Given the description of an element on the screen output the (x, y) to click on. 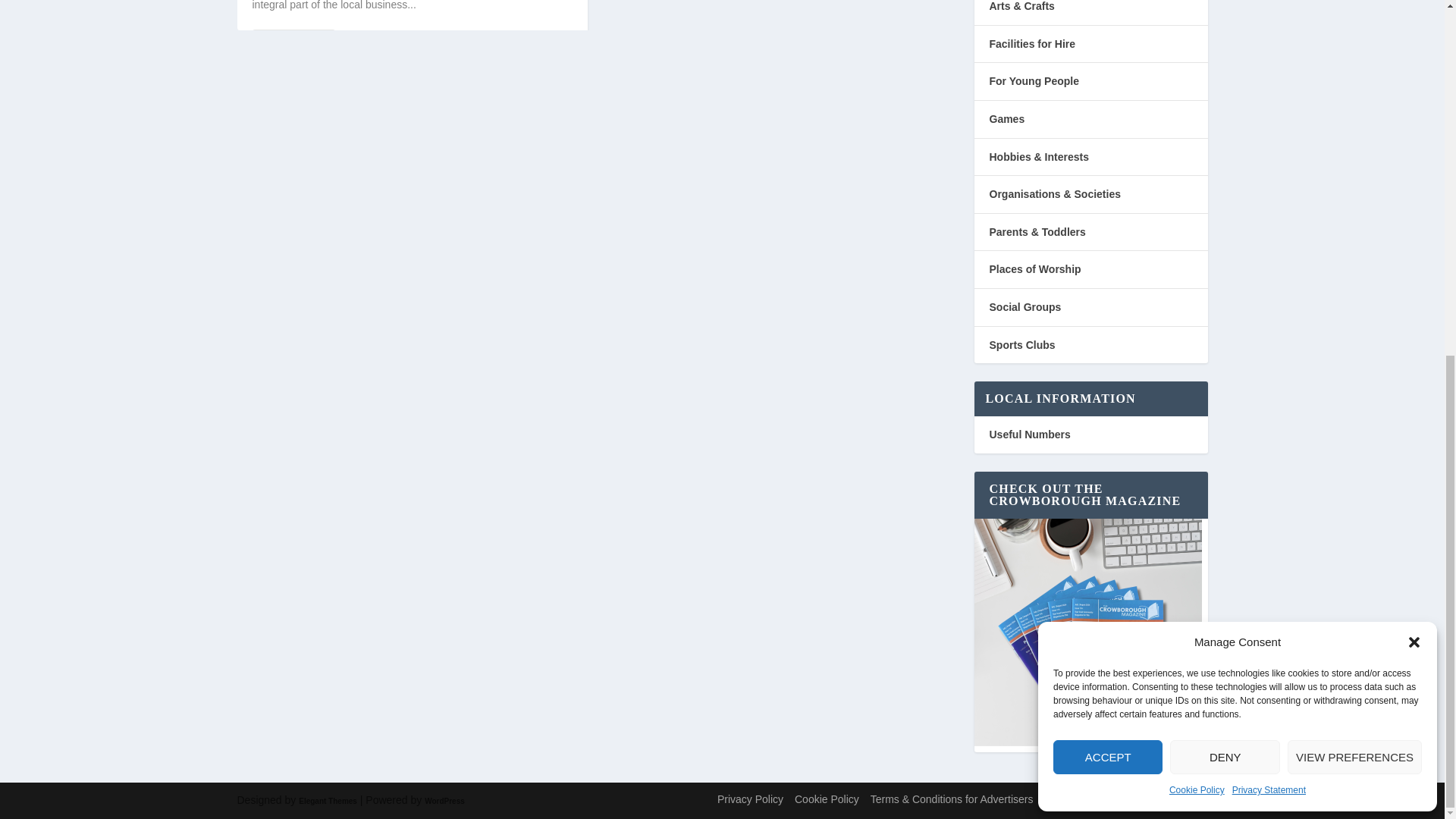
ACCEPT (1106, 133)
VIEW PREFERENCES (1354, 133)
Cookie Policy (1196, 167)
DENY (1224, 133)
Privacy Statement (1268, 167)
Premium WordPress Themes (327, 800)
